Given the description of an element on the screen output the (x, y) to click on. 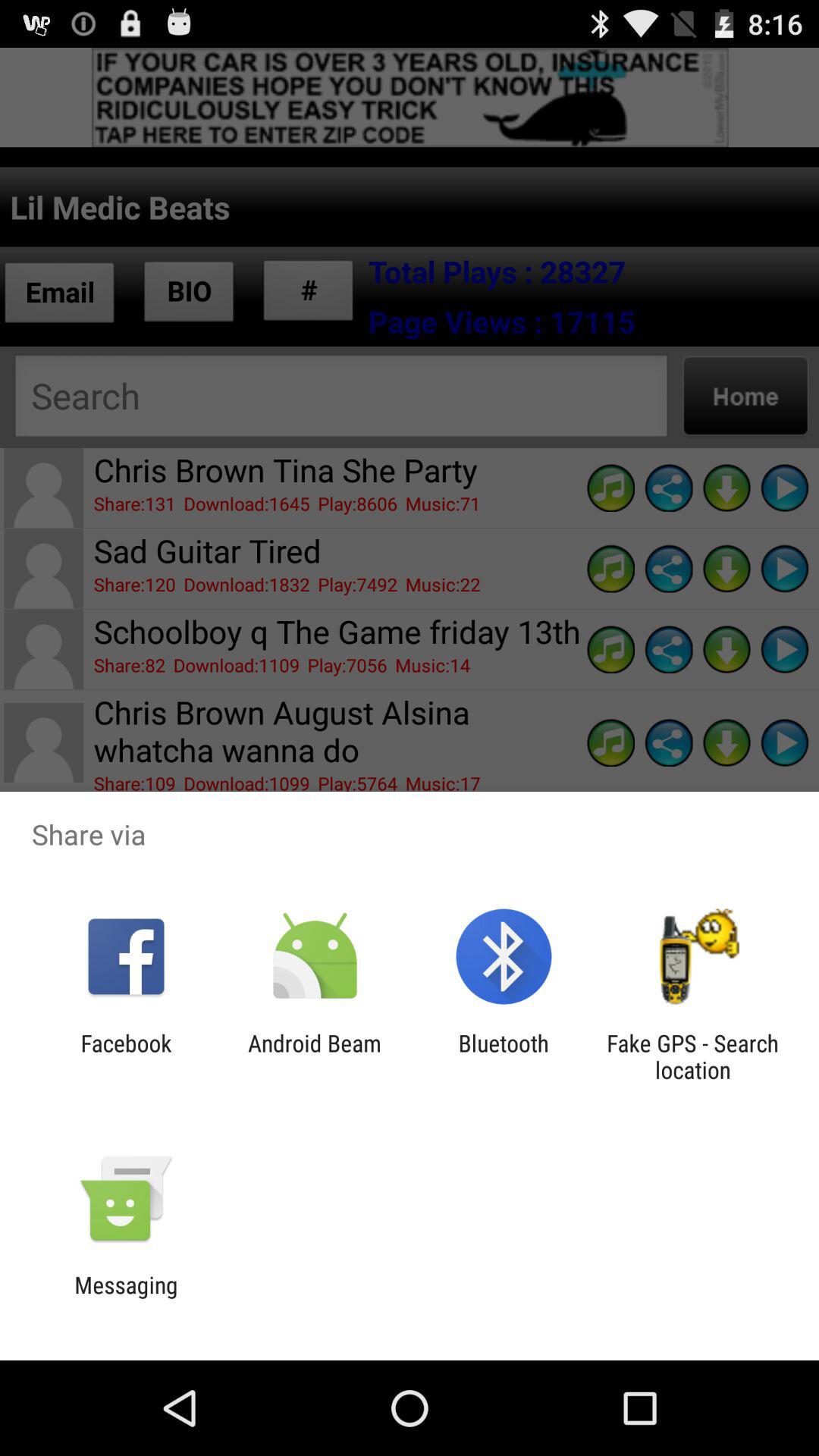
open the icon next to the fake gps search app (503, 1056)
